Given the description of an element on the screen output the (x, y) to click on. 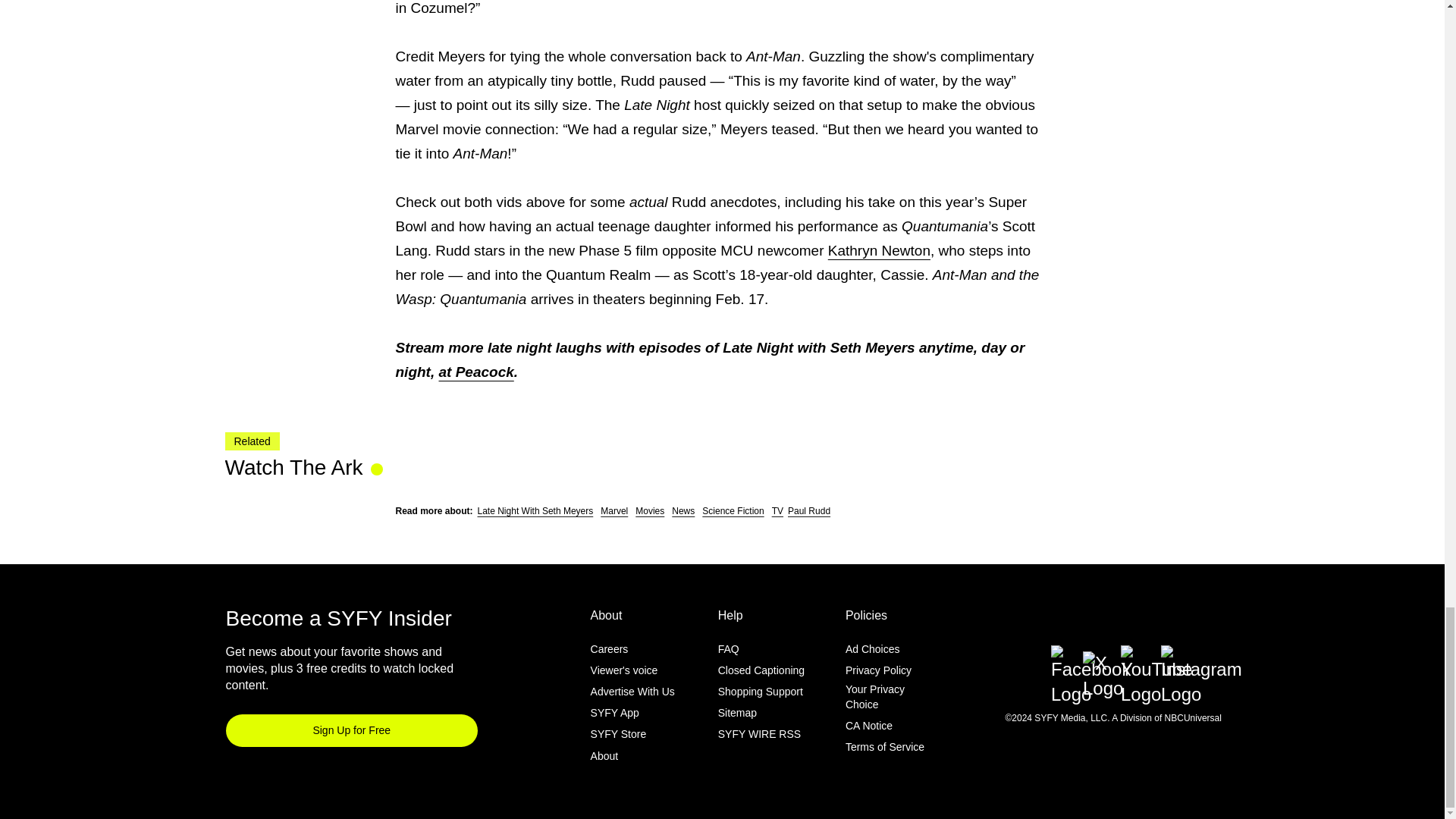
Marvel (613, 511)
Advertise With Us (633, 692)
at Peacock (475, 371)
Movies (648, 511)
Kathryn Newton (879, 250)
Science Fiction (731, 511)
Late Night With Seth Meyers (535, 511)
News (682, 511)
TV (777, 511)
